Given the description of an element on the screen output the (x, y) to click on. 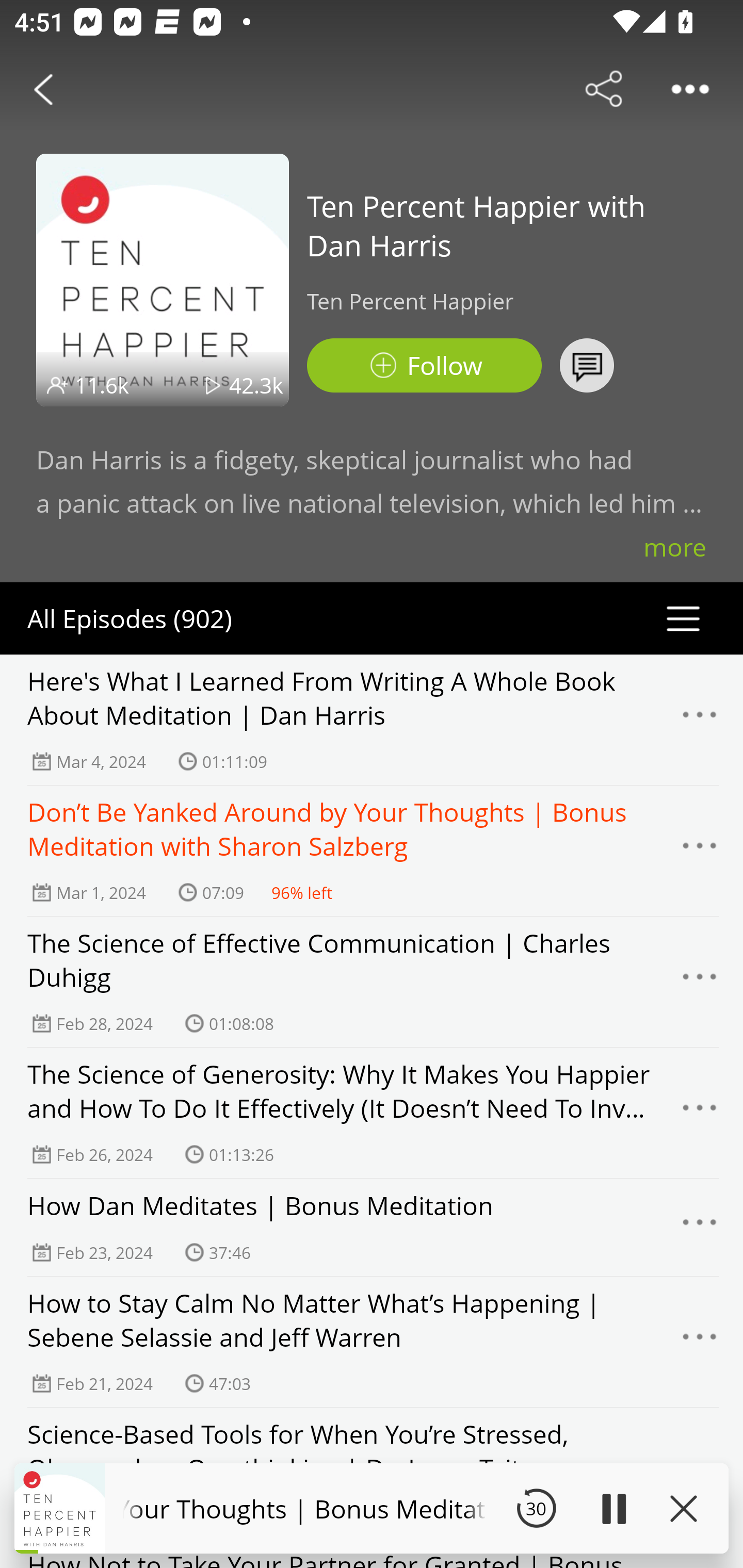
Back (43, 88)
Podbean Follow (423, 365)
11.6k (102, 384)
more (674, 546)
Menu (699, 720)
Menu (699, 850)
Menu (699, 982)
Menu (699, 1113)
Menu (699, 1227)
Menu (699, 1342)
Play (613, 1507)
30 Seek Backward (536, 1508)
